Given the description of an element on the screen output the (x, y) to click on. 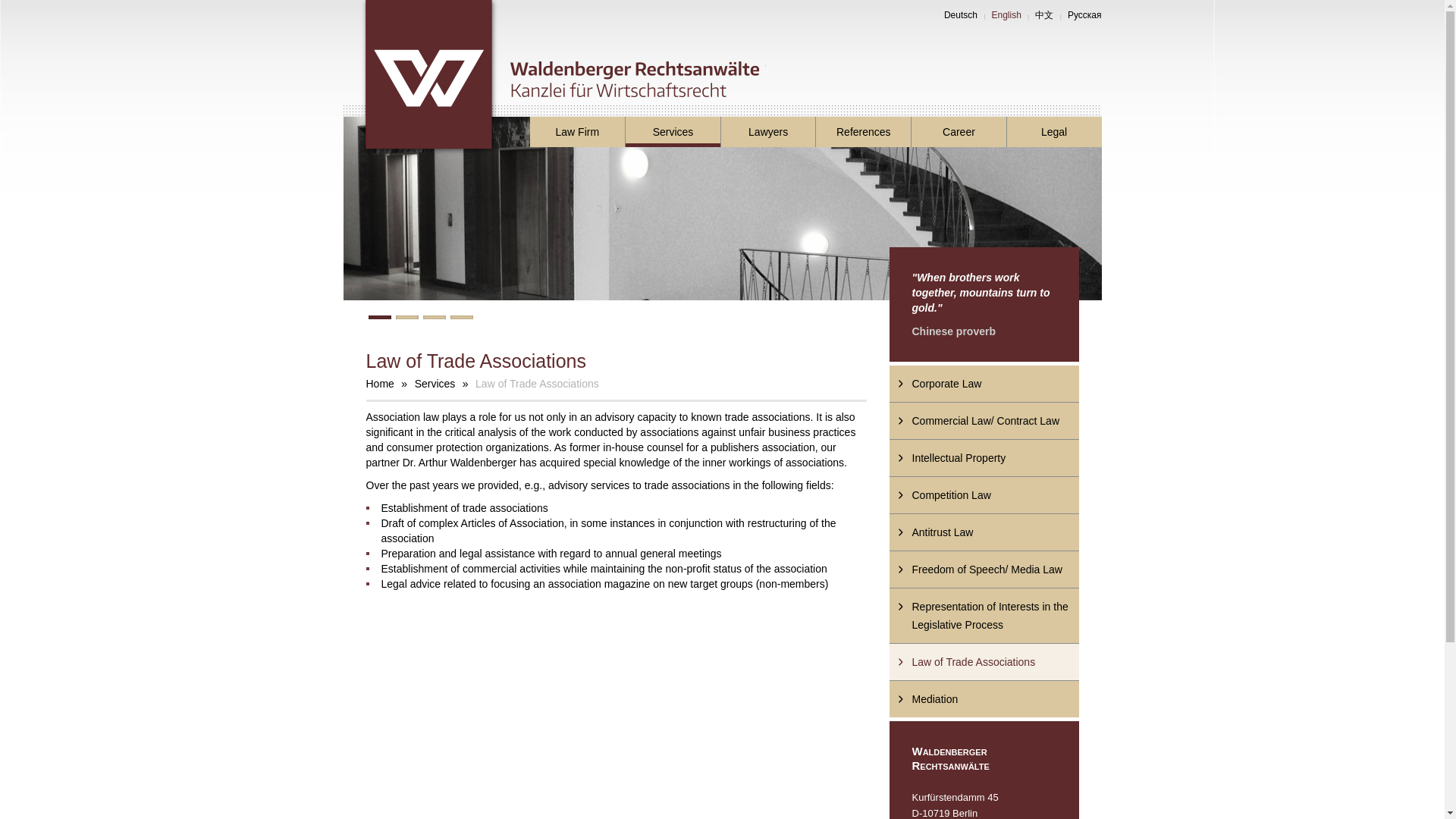
English (1006, 14)
2 (407, 317)
4 (461, 317)
Deutsch (959, 14)
References (863, 132)
Law Firm (576, 132)
Lawyers (767, 132)
